Given the description of an element on the screen output the (x, y) to click on. 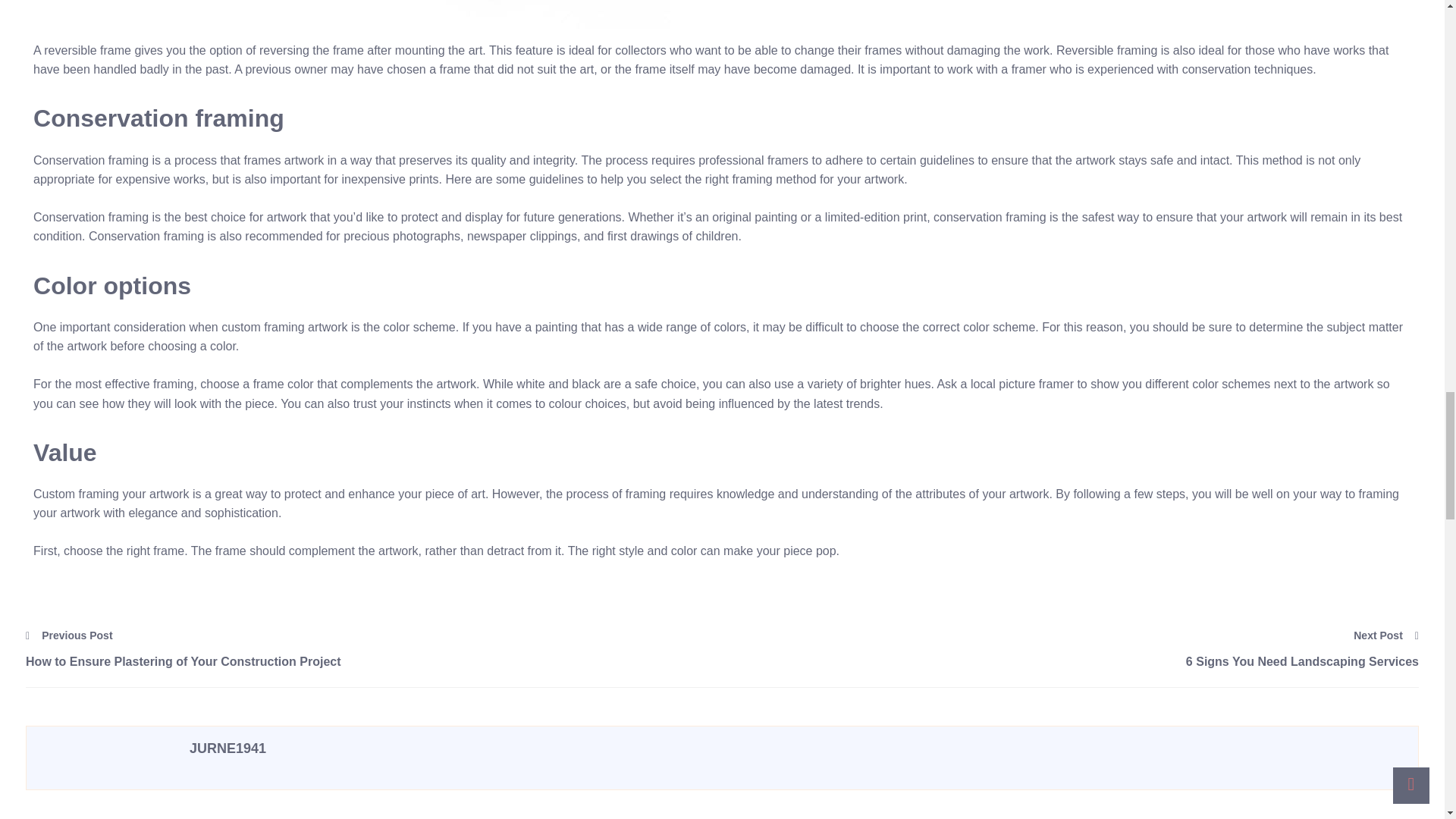
Previous Post (69, 635)
6 Signs You Need Landscaping Services (1070, 661)
How to Ensure Plastering of Your Construction Project (374, 661)
Next Post (1386, 635)
